Given the description of an element on the screen output the (x, y) to click on. 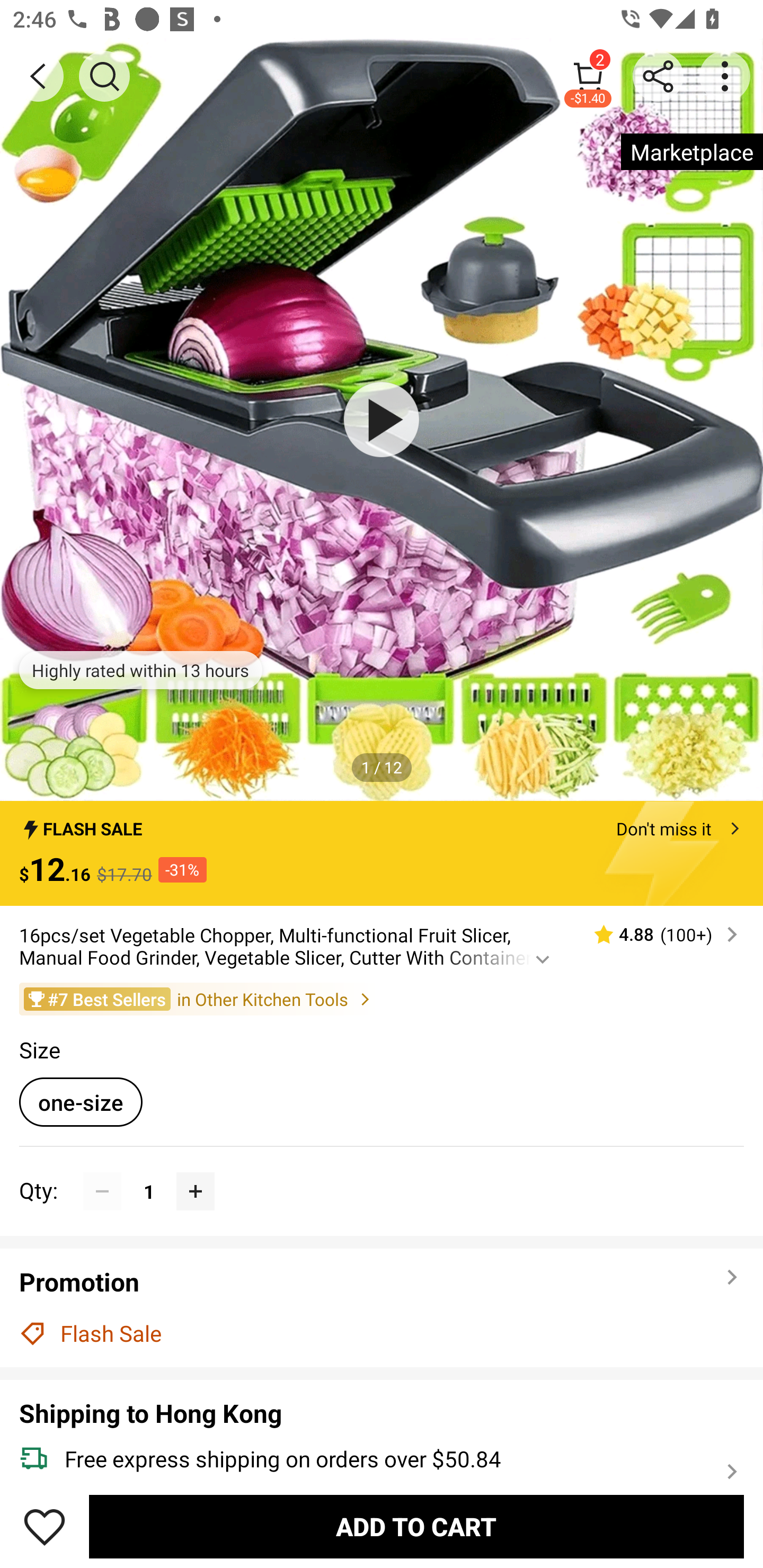
BACK (38, 75)
2 -$1.40 (588, 75)
1 / 12 (381, 766)
FLASH SALE Don't miss it $12.16 $17.70 -31% (381, 853)
FLASH SALE Don't miss it (381, 823)
4.88 (100‎+) (658, 934)
#7 Best Sellers in Other Kitchen Tools (381, 999)
Size (39, 1049)
one-size one-sizeselected option (80, 1102)
Qty: 1 (381, 1171)
Promotion Flash Sale (381, 1307)
ADD TO CART (416, 1526)
Save (44, 1526)
